Given the description of an element on the screen output the (x, y) to click on. 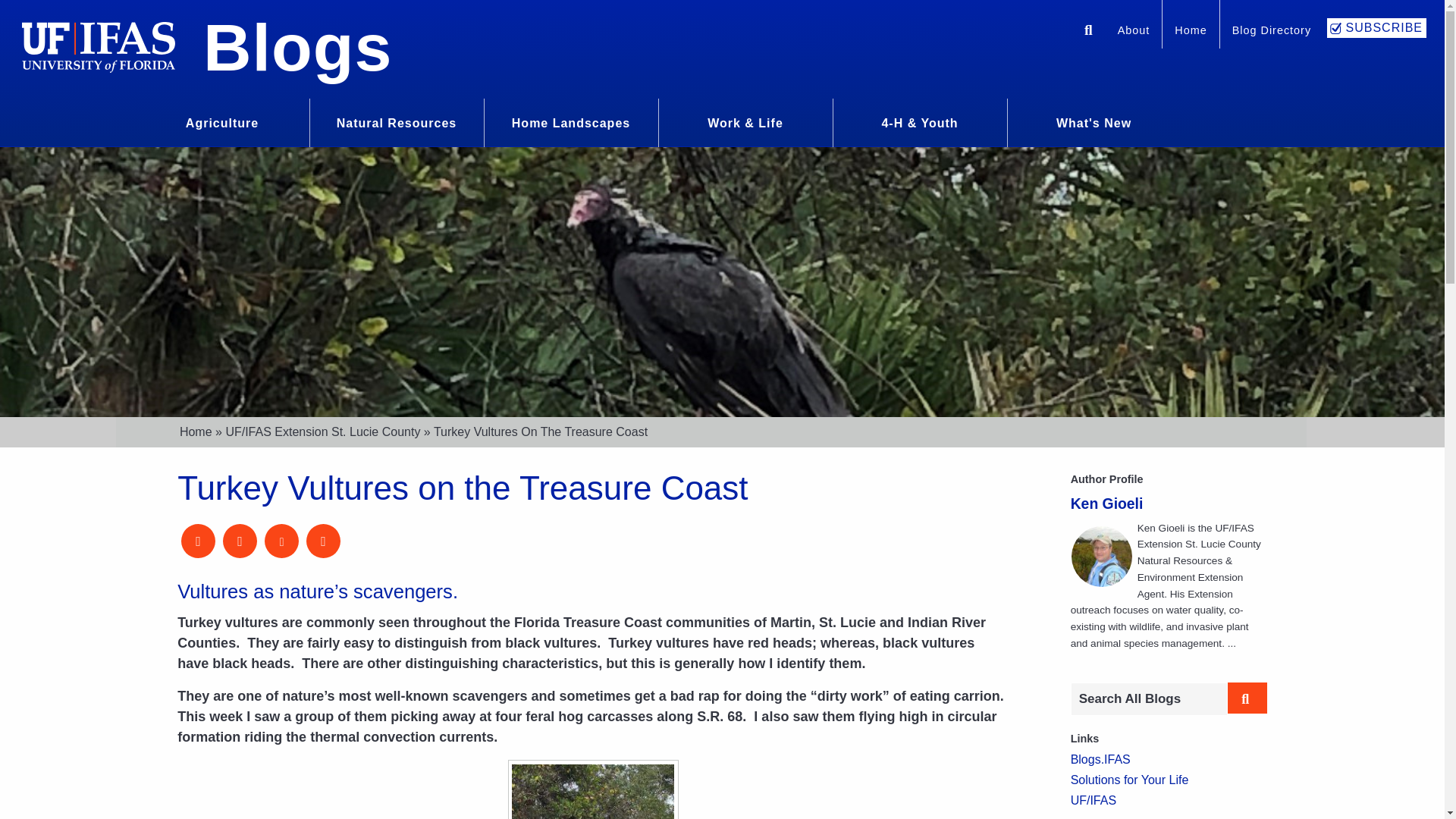
Home Landscapes (571, 121)
Blog Directory (1271, 32)
About (1133, 32)
Natural Resources (396, 121)
Home (1189, 32)
Blogs (297, 47)
Agriculture (221, 121)
Search All Blogs (1148, 698)
SUBSCRIBE (1376, 27)
